Given the description of an element on the screen output the (x, y) to click on. 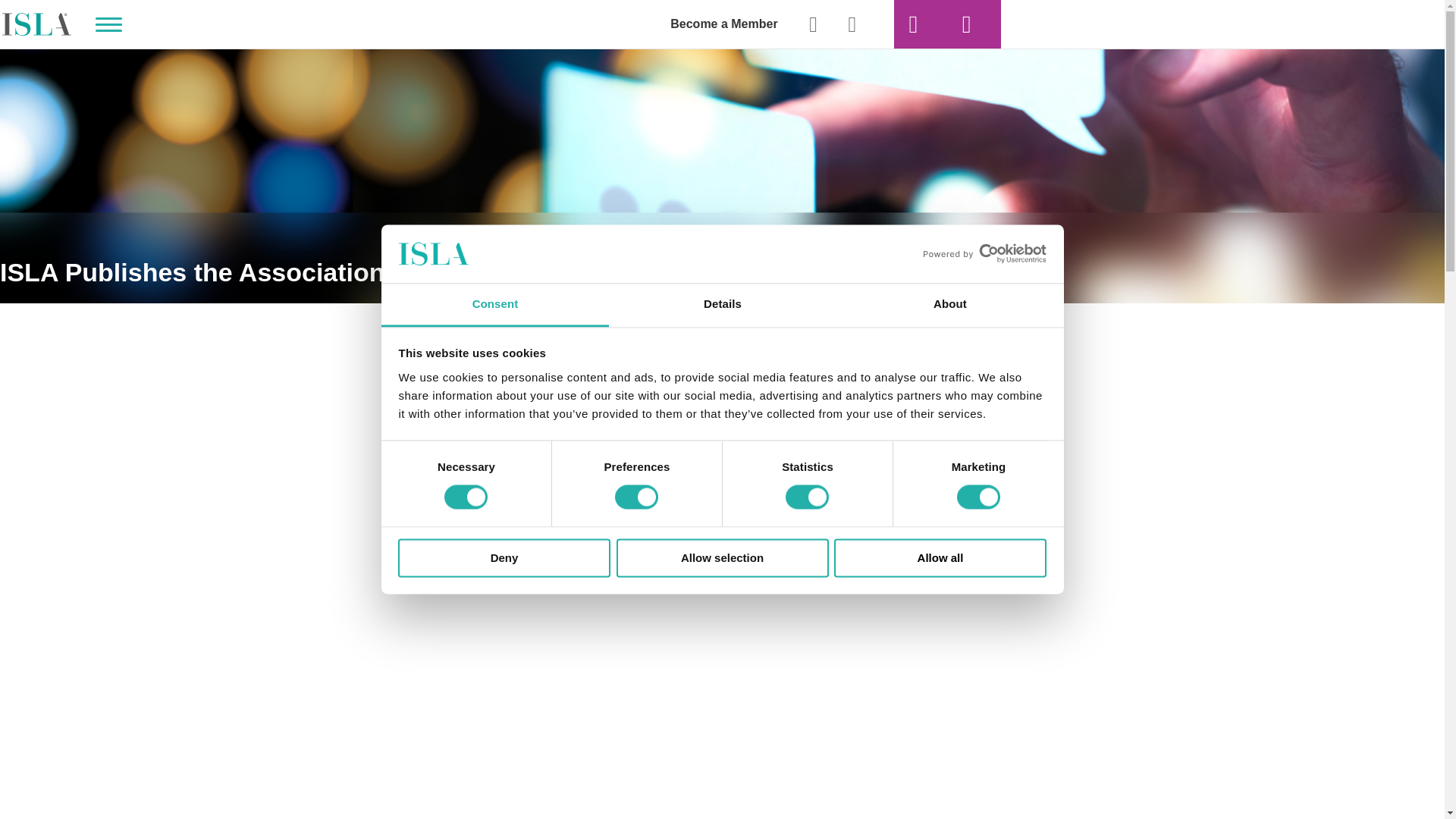
Consent (494, 304)
Details (721, 304)
About (948, 304)
